Given the description of an element on the screen output the (x, y) to click on. 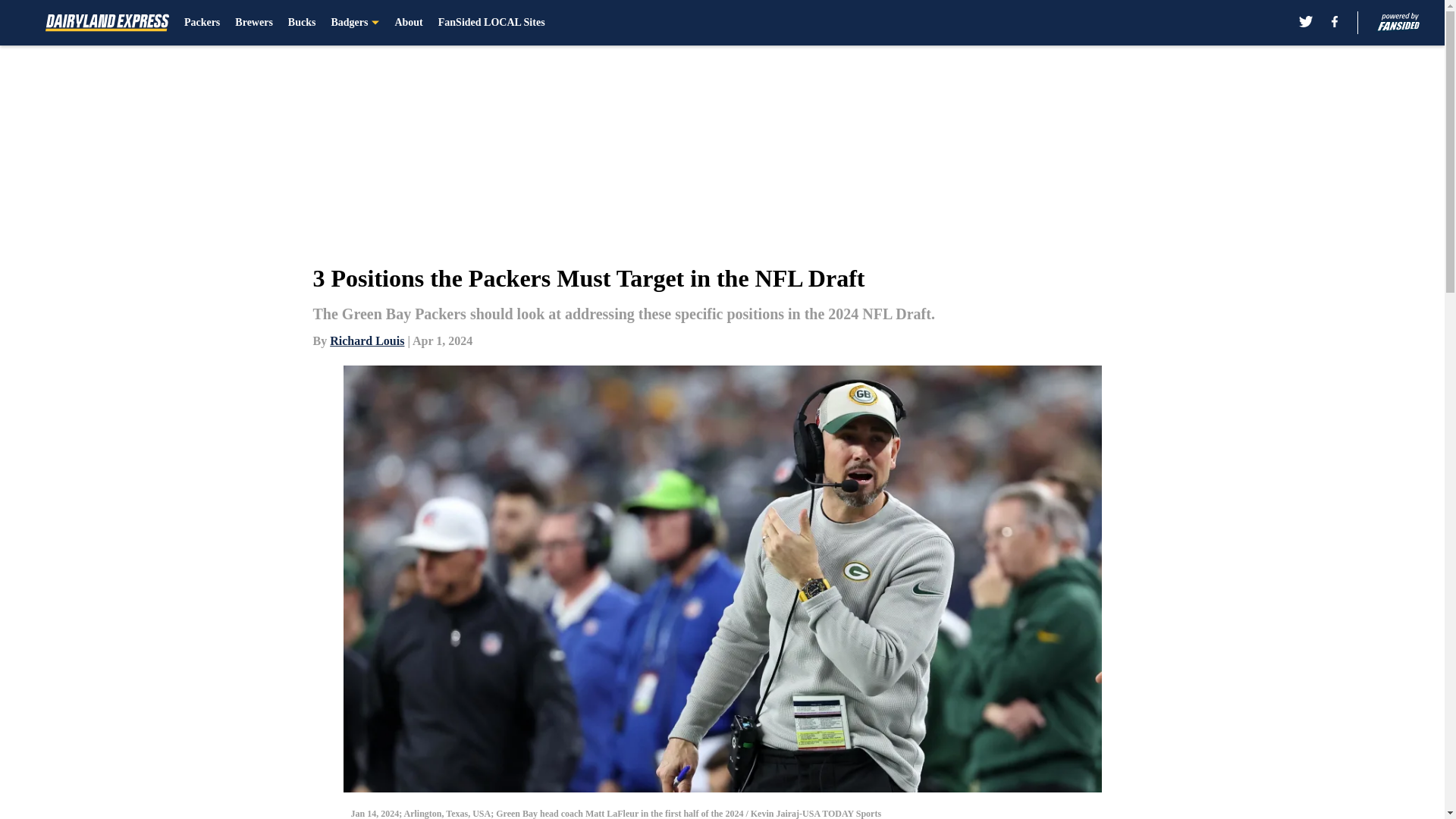
About (408, 22)
Richard Louis (367, 340)
Bucks (301, 22)
Brewers (253, 22)
Packers (201, 22)
FanSided LOCAL Sites (491, 22)
